Given the description of an element on the screen output the (x, y) to click on. 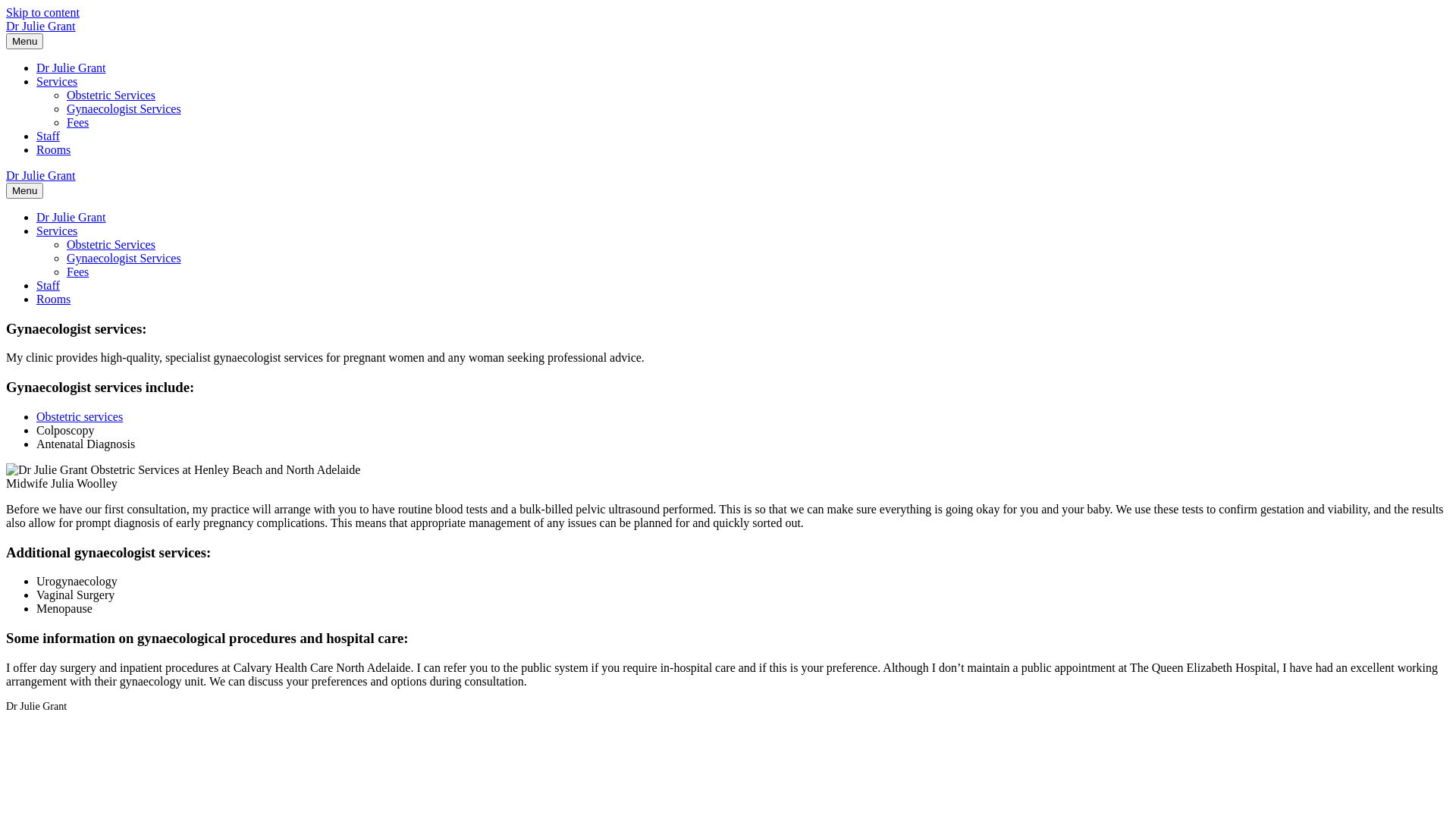
Obstetric Services Element type: text (110, 244)
Menu Element type: text (24, 190)
Obstetric Services Element type: text (110, 94)
Services Element type: text (56, 81)
Dr Julie Grant Element type: text (727, 175)
Services Element type: text (56, 230)
Rooms Element type: text (53, 149)
Skip to content Element type: text (42, 12)
Dr Julie Grant Element type: text (71, 216)
Dr Julie Grant Element type: text (71, 67)
Rooms Element type: text (53, 298)
Obstetric services Element type: text (79, 416)
Fees Element type: text (77, 122)
Dr Julie Grant Element type: text (727, 26)
Gynaecologist Services Element type: text (123, 108)
dr-julie-grant-julia-woolley-midwife Element type: hover (183, 469)
Fees Element type: text (77, 271)
Staff Element type: text (47, 135)
Gynaecologist Services Element type: text (123, 257)
Menu Element type: text (24, 41)
Staff Element type: text (47, 285)
